Given the description of an element on the screen output the (x, y) to click on. 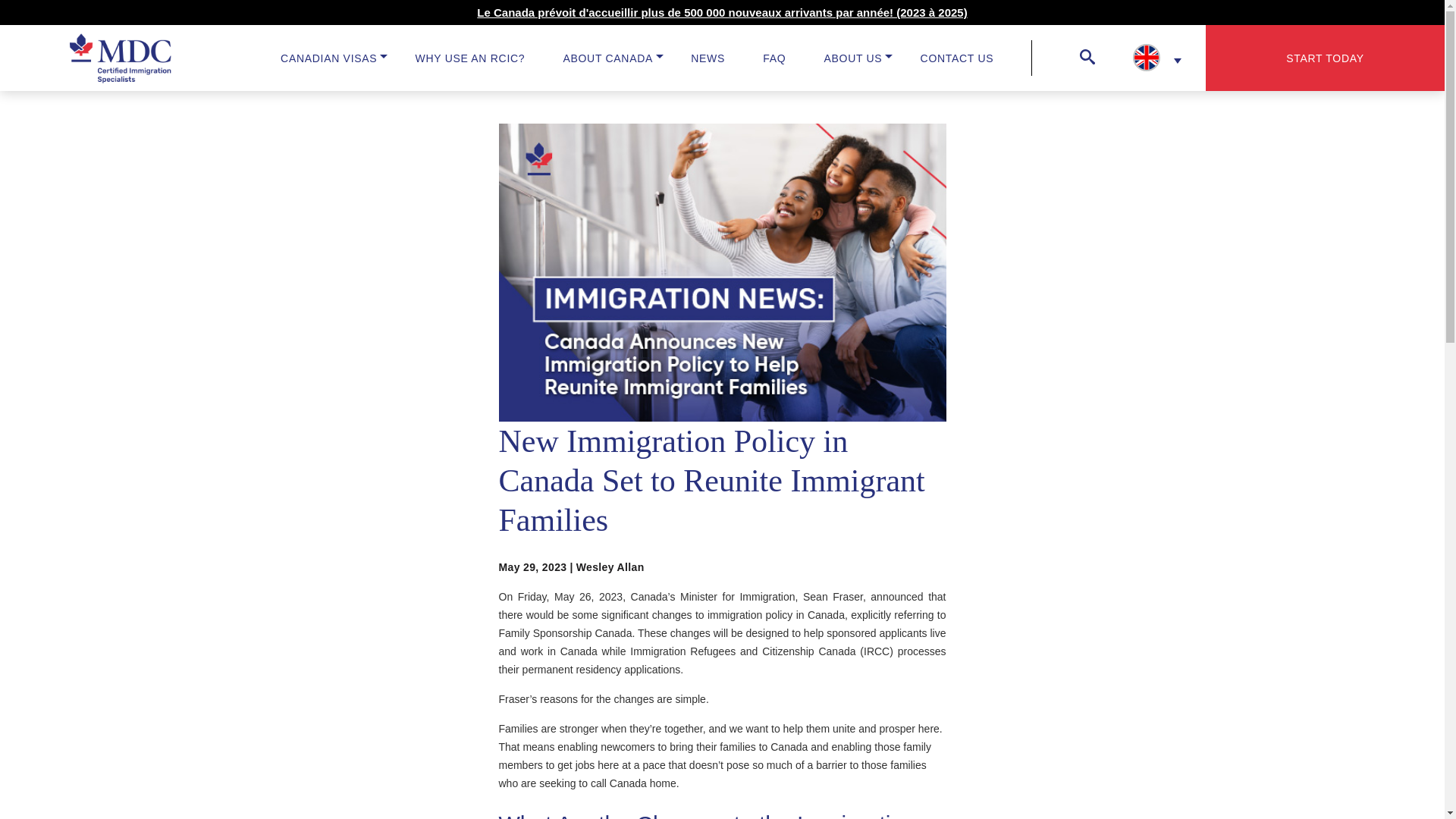
ABOUT CANADA (607, 57)
WHY USE AN RCIC? (469, 57)
home page (75, 57)
CANADIAN VISAS (329, 57)
ABOUT CANADA (607, 57)
Learn More (721, 11)
CANADIAN VISAS (329, 57)
logo (120, 58)
WHY USE AN RCIC? (469, 57)
